Given the description of an element on the screen output the (x, y) to click on. 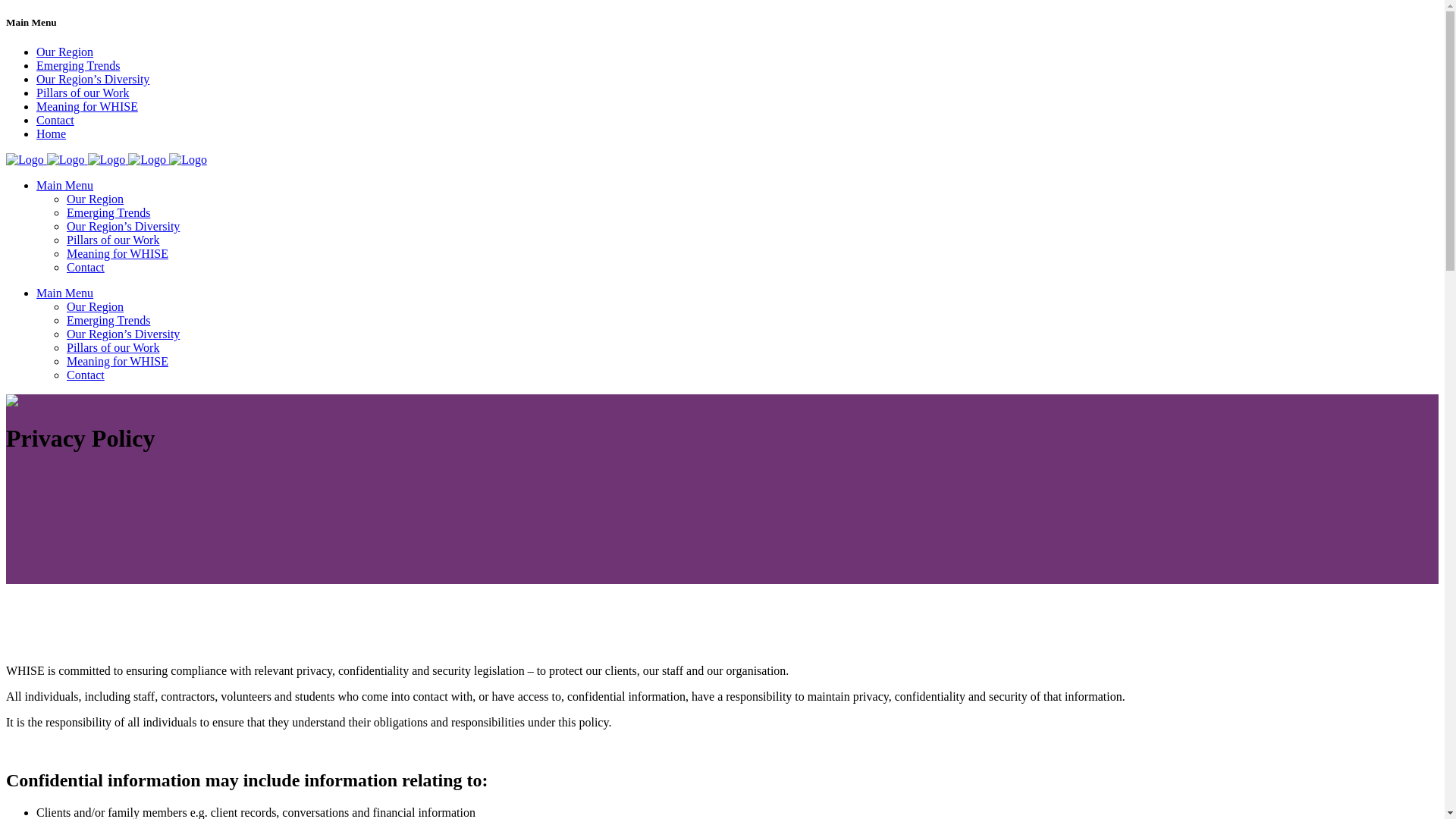
Meaning for WHISE Element type: text (87, 106)
Pillars of our Work Element type: text (82, 92)
Main Menu Element type: text (64, 184)
Emerging Trends Element type: text (108, 212)
Meaning for WHISE Element type: text (117, 360)
Emerging Trends Element type: text (77, 65)
Our Region Element type: text (64, 51)
Contact Element type: text (85, 266)
Contact Element type: text (85, 374)
Pillars of our Work Element type: text (112, 239)
Meaning for WHISE Element type: text (117, 253)
Main Menu Element type: text (64, 292)
Emerging Trends Element type: text (108, 319)
Pillars of our Work Element type: text (112, 347)
Our Region Element type: text (94, 198)
Our Region Element type: text (94, 306)
Home Element type: text (50, 133)
Contact Element type: text (55, 119)
